Given the description of an element on the screen output the (x, y) to click on. 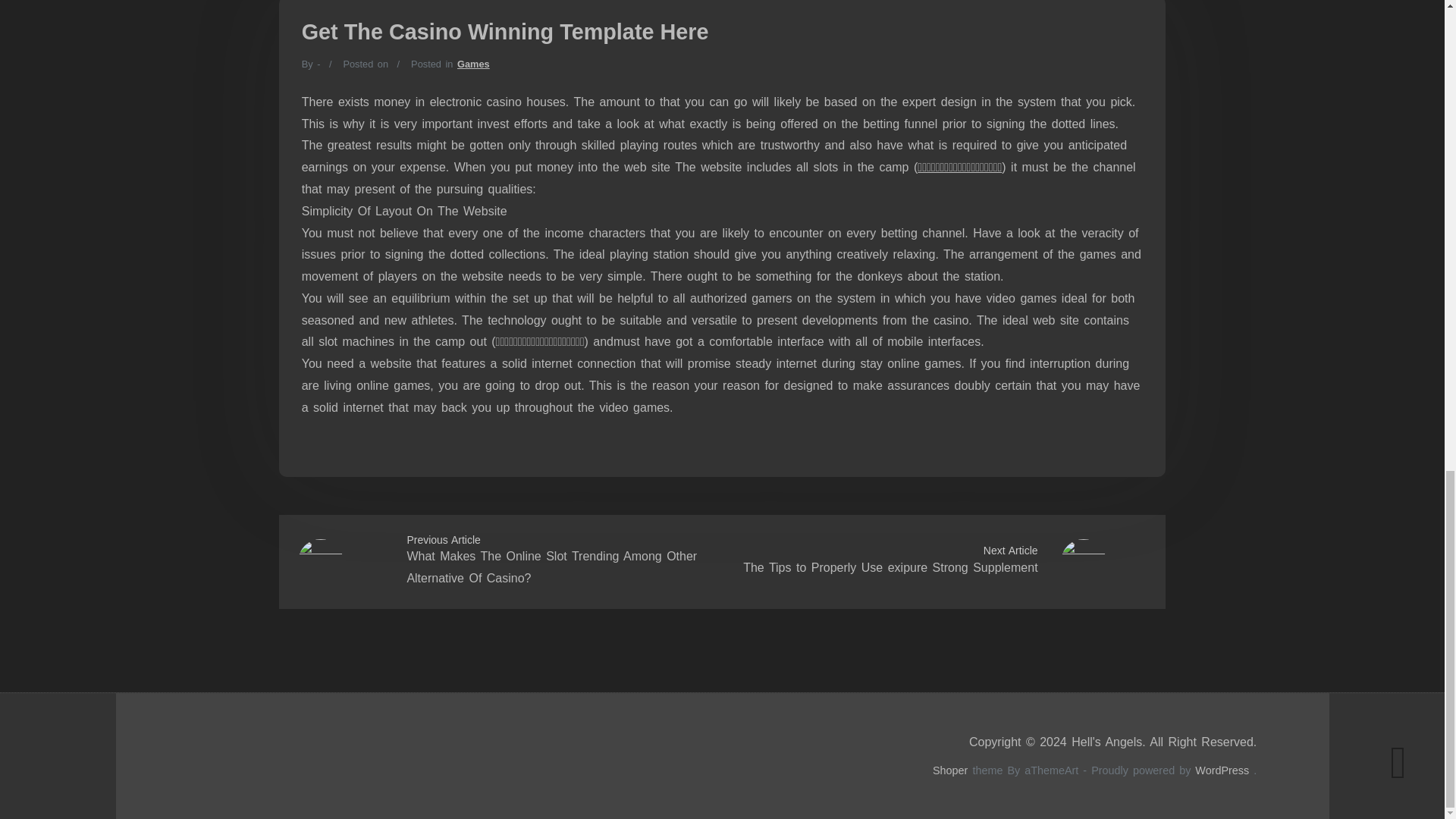
Games (473, 63)
WordPress (1222, 770)
Shoper (950, 770)
The Tips to Properly Use exipure Strong Supplement (889, 567)
